Given the description of an element on the screen output the (x, y) to click on. 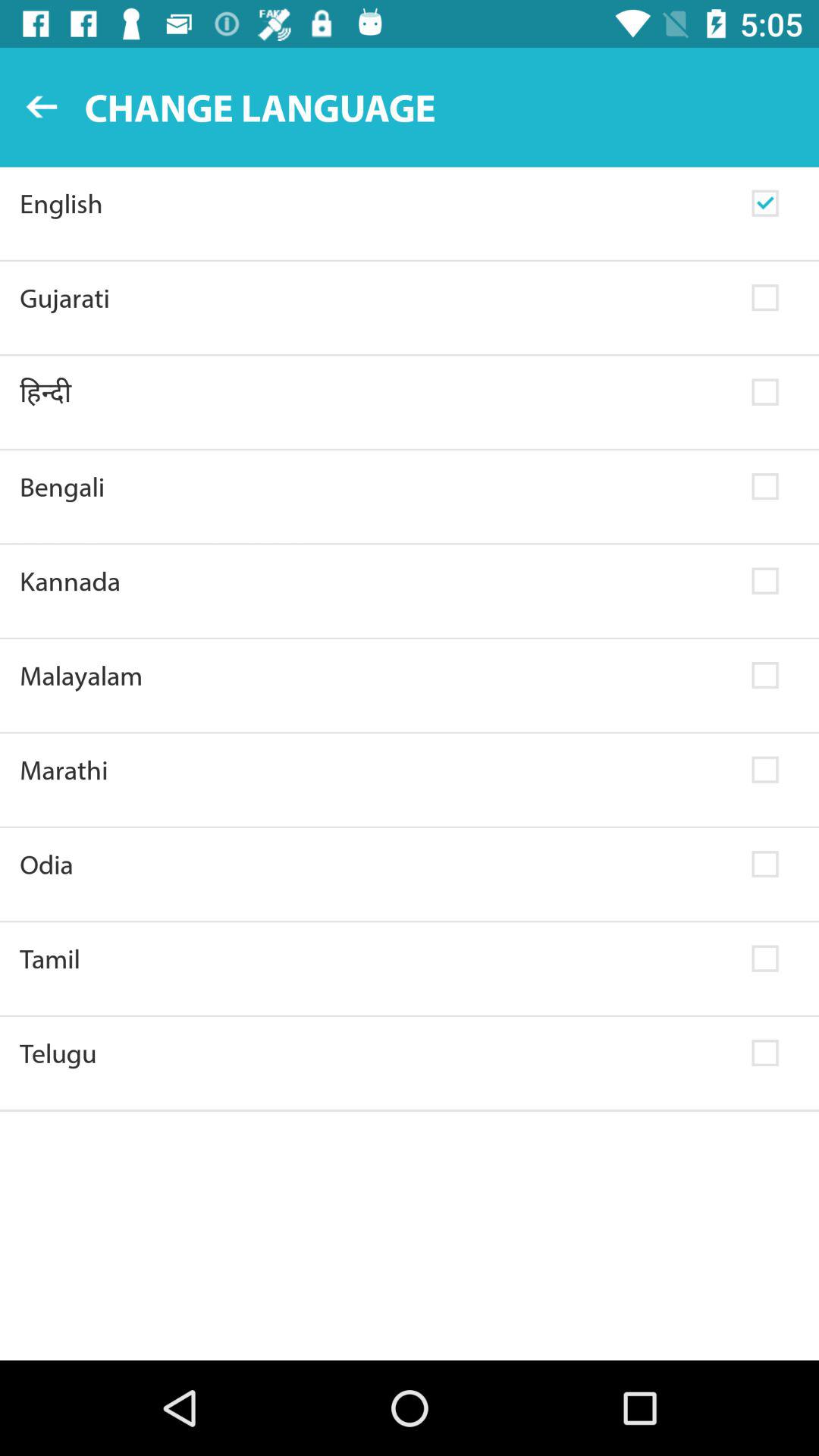
jump to english (375, 203)
